Given the description of an element on the screen output the (x, y) to click on. 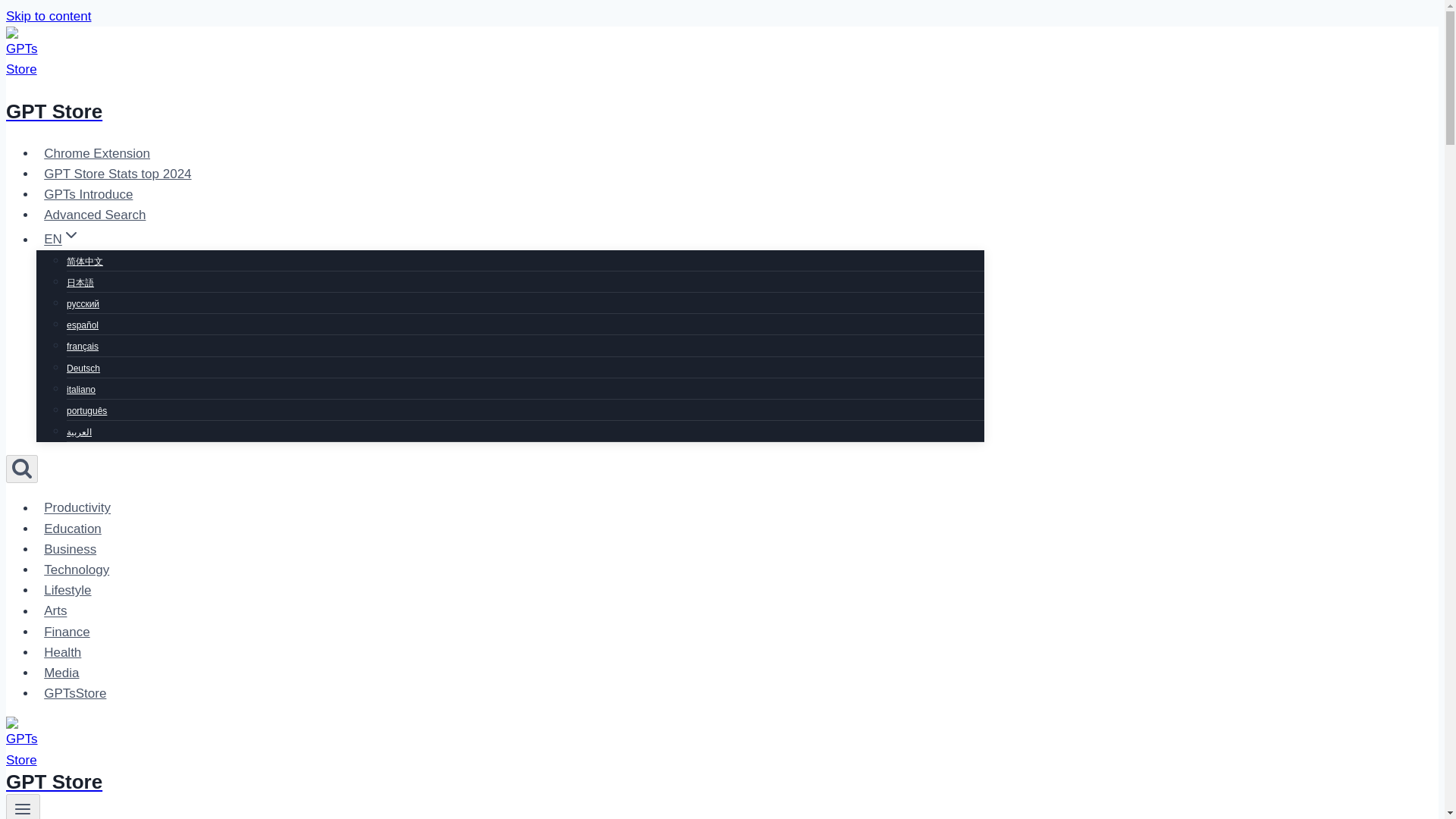
GPTsStore (75, 693)
GPT Store Stats top 2024 (117, 173)
Toggle Menu (22, 809)
Technology (76, 569)
Skip to content (47, 16)
GPTs Introduce (88, 194)
Lifestyle (67, 590)
Search (21, 469)
Media (61, 672)
Deutsch (83, 368)
ENExpand (61, 238)
GPT Store (494, 772)
Finance (66, 632)
GPT Store (494, 92)
Business (69, 549)
